Given the description of an element on the screen output the (x, y) to click on. 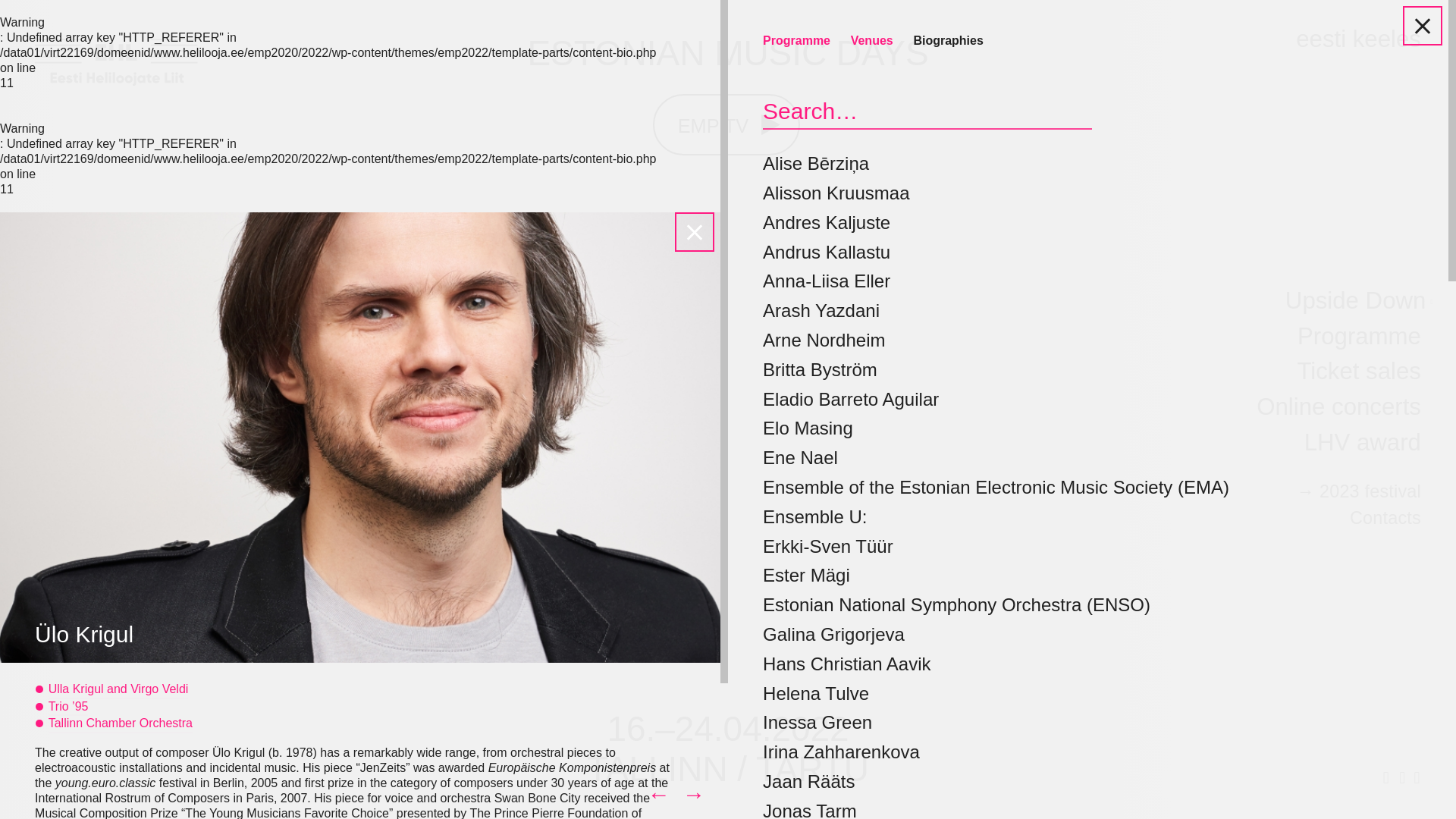
Contacts (1385, 518)
University of Tartu Symphony Orchestra (693, 794)
EMP TV (725, 124)
Ulla Krigul (659, 794)
Online concerts (1338, 407)
Programme (1359, 336)
Tallinn Chamber Orchestra (120, 723)
Ulla Krigul and Virgo Veldi (118, 689)
eesti keeles (1358, 39)
LHV award (1362, 443)
Ticket sales (1359, 371)
Upside Down (1353, 301)
